Given the description of an element on the screen output the (x, y) to click on. 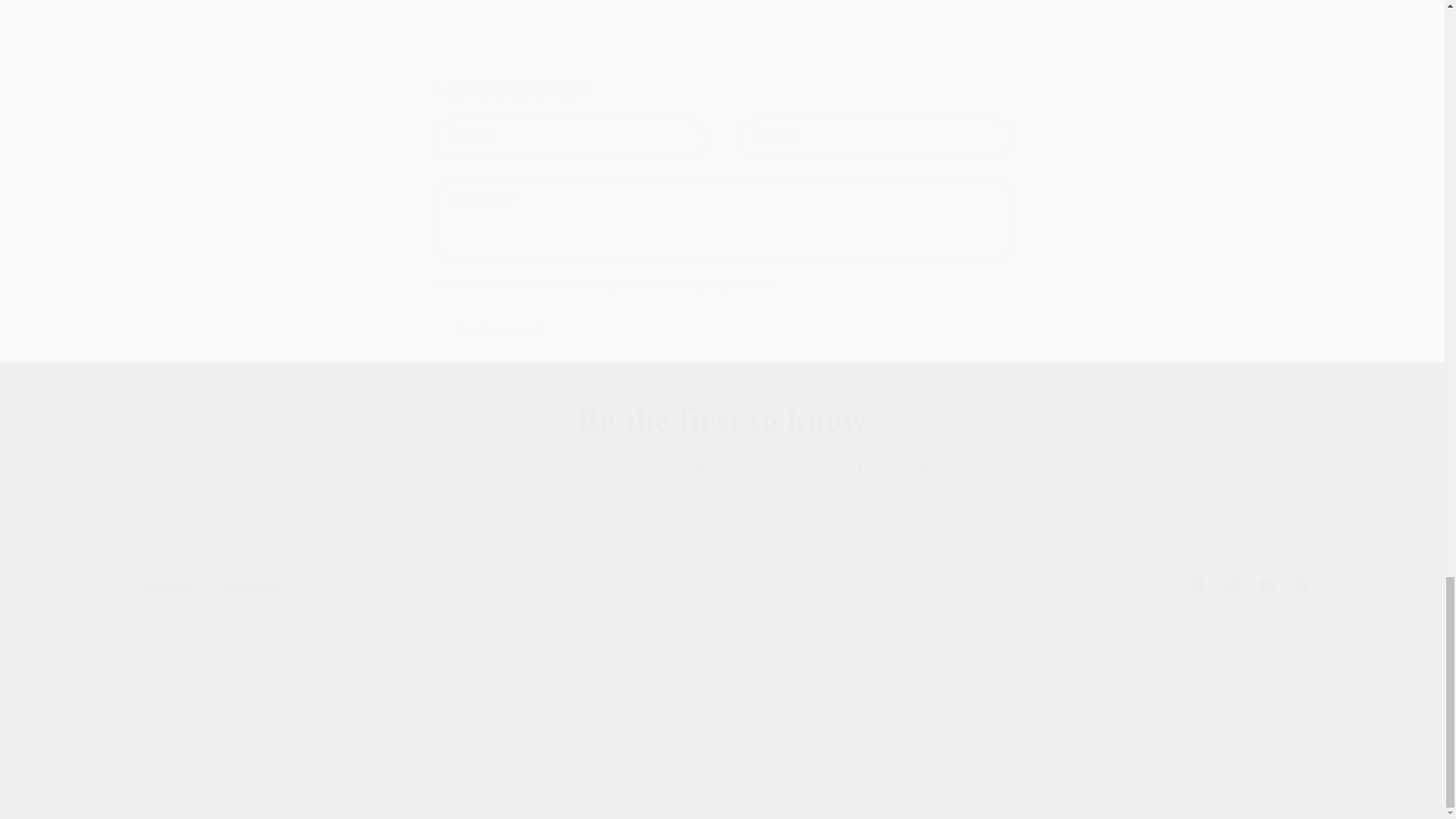
Be the first to know (722, 584)
Post comment (722, 421)
Email (499, 330)
